Given the description of an element on the screen output the (x, y) to click on. 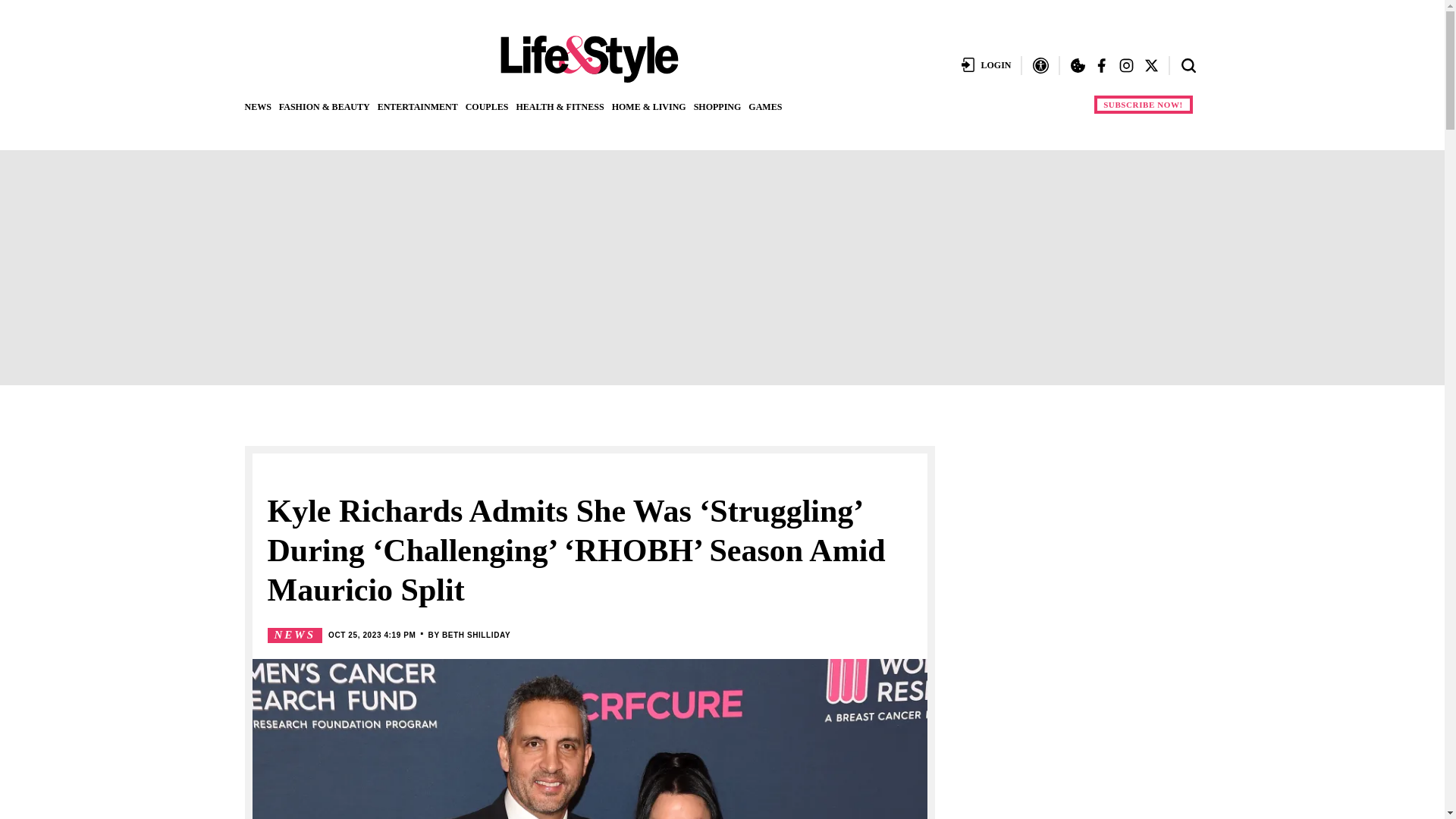
Posts by Beth Shilliday (476, 634)
